Given the description of an element on the screen output the (x, y) to click on. 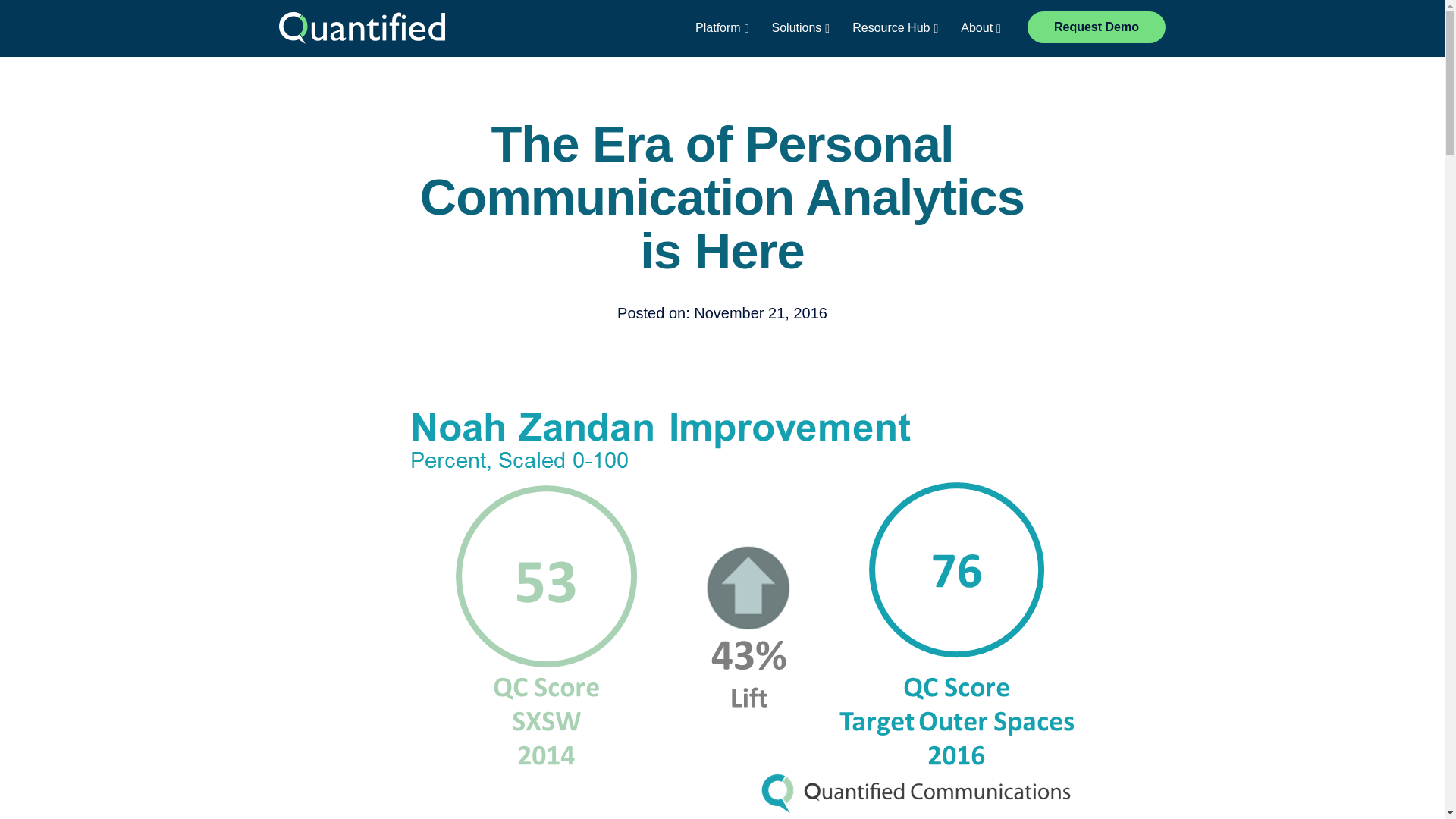
Request Demo (1096, 27)
